Given the description of an element on the screen output the (x, y) to click on. 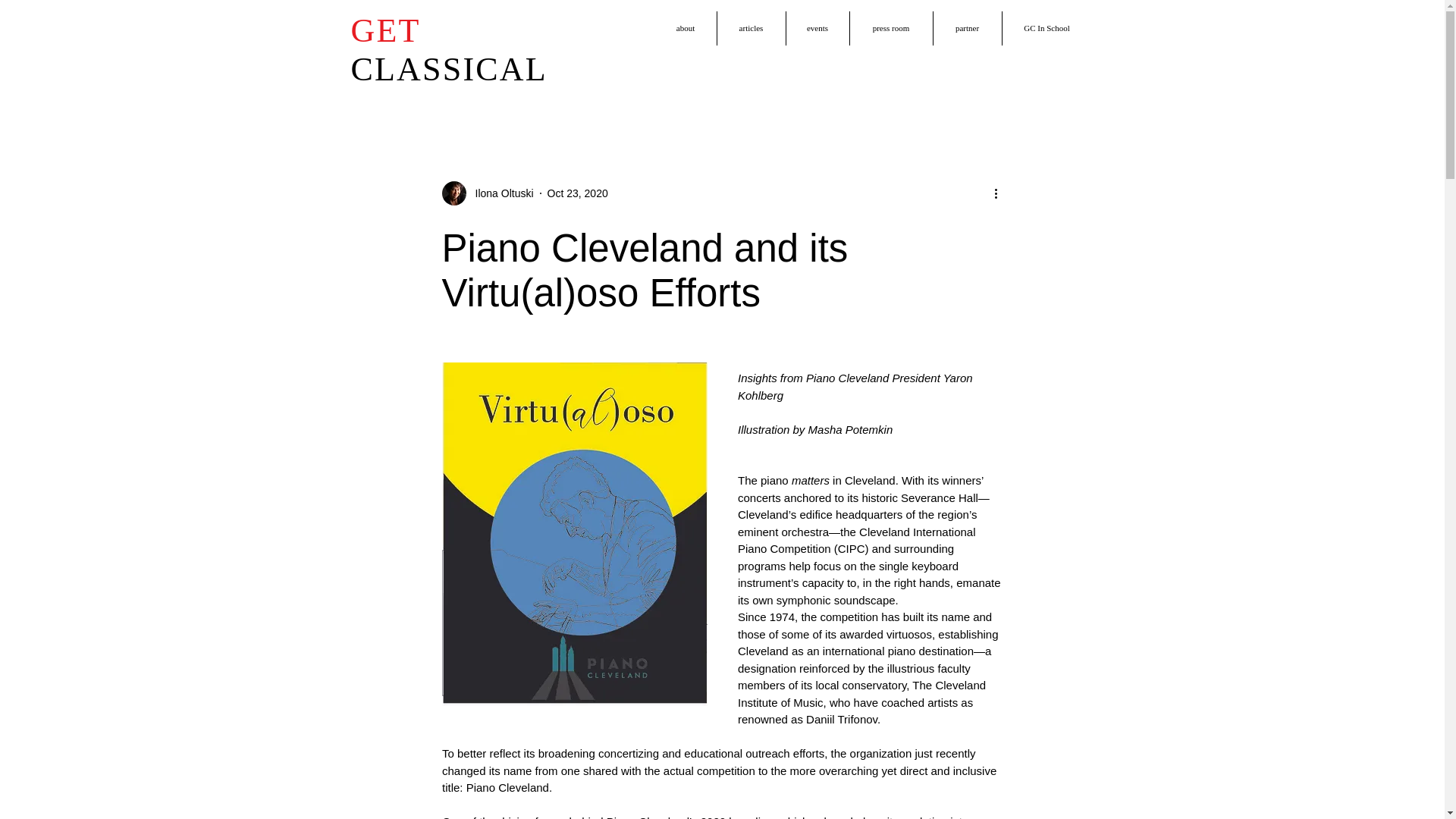
Ilona Oltuski (498, 192)
One World (938, 90)
events (817, 28)
review (658, 90)
about (685, 28)
GC In School (1047, 28)
GET CLASSICAL (448, 49)
articles (751, 28)
advocay (866, 90)
preview (596, 90)
partner (967, 28)
press room (889, 28)
editorial (722, 90)
deutsch (425, 90)
education (793, 90)
